Given the description of an element on the screen output the (x, y) to click on. 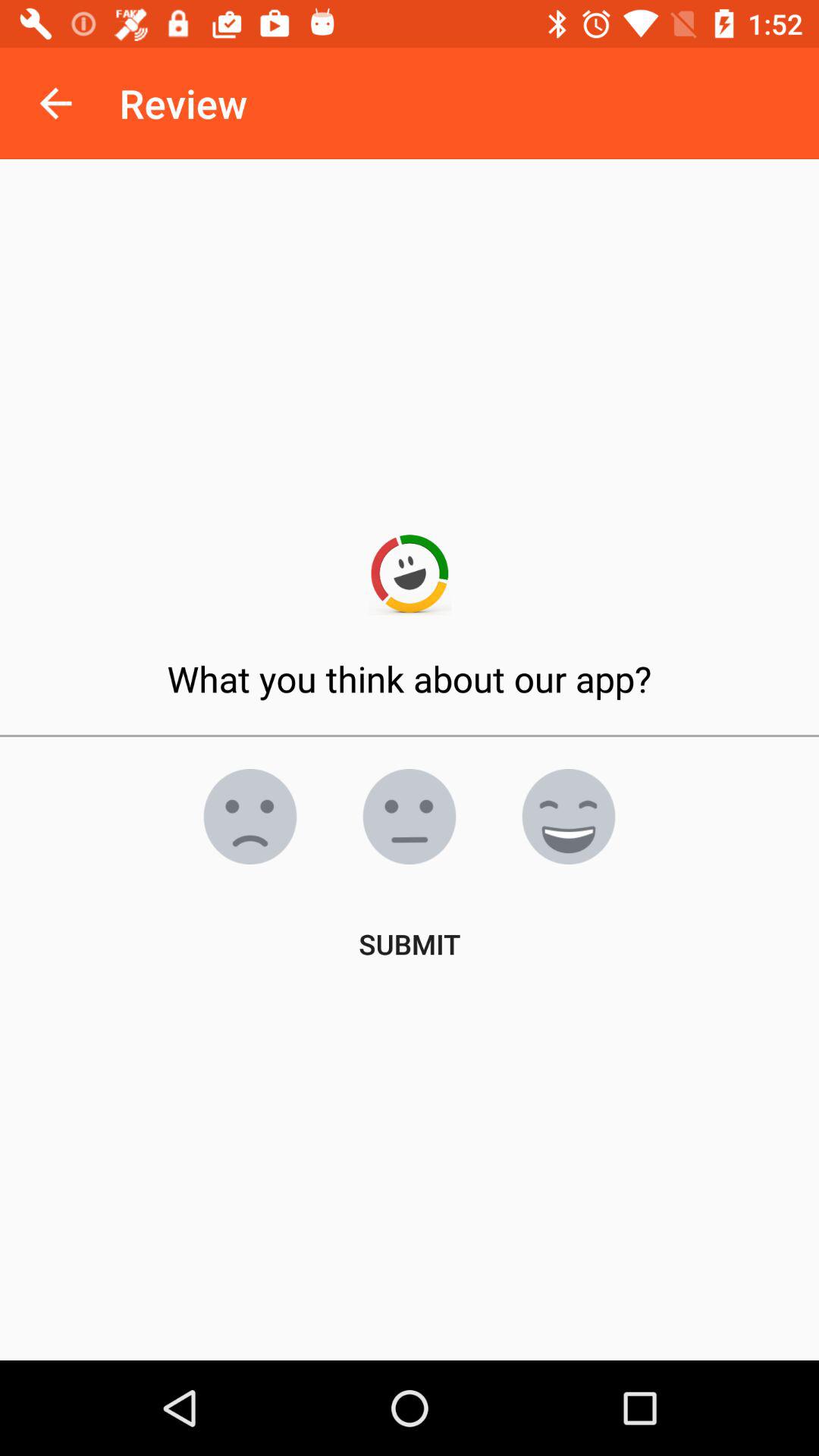
negative review (249, 816)
